Given the description of an element on the screen output the (x, y) to click on. 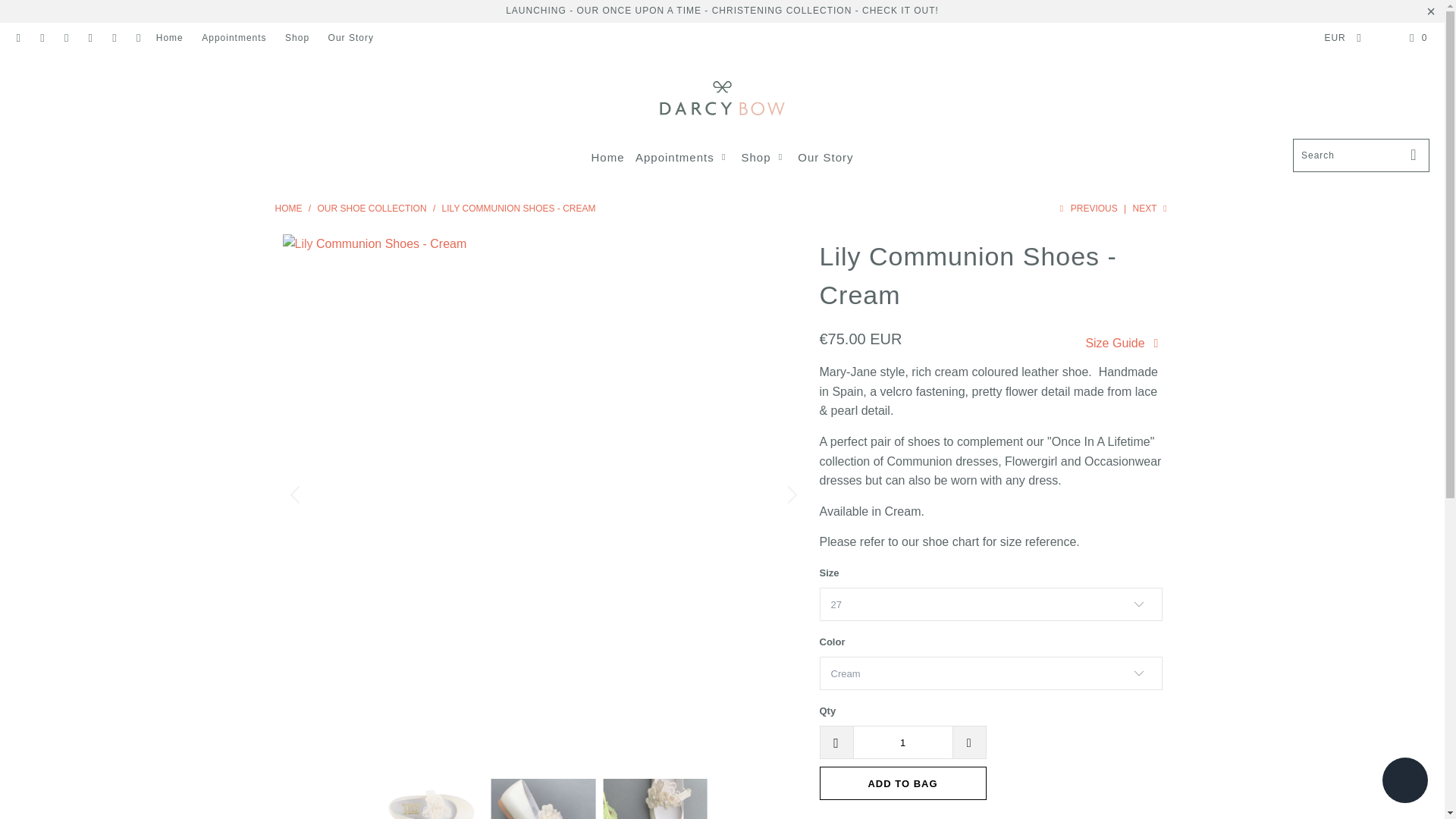
Darcybow on Twitter (17, 37)
Previous (1086, 208)
Our Shoe Collection (371, 208)
Next (1151, 208)
1 (901, 742)
Email Darcybow (138, 37)
Darcybow on YouTube (65, 37)
Darcybow (288, 208)
Darcybow (722, 99)
Darcybow on Facebook (41, 37)
